Given the description of an element on the screen output the (x, y) to click on. 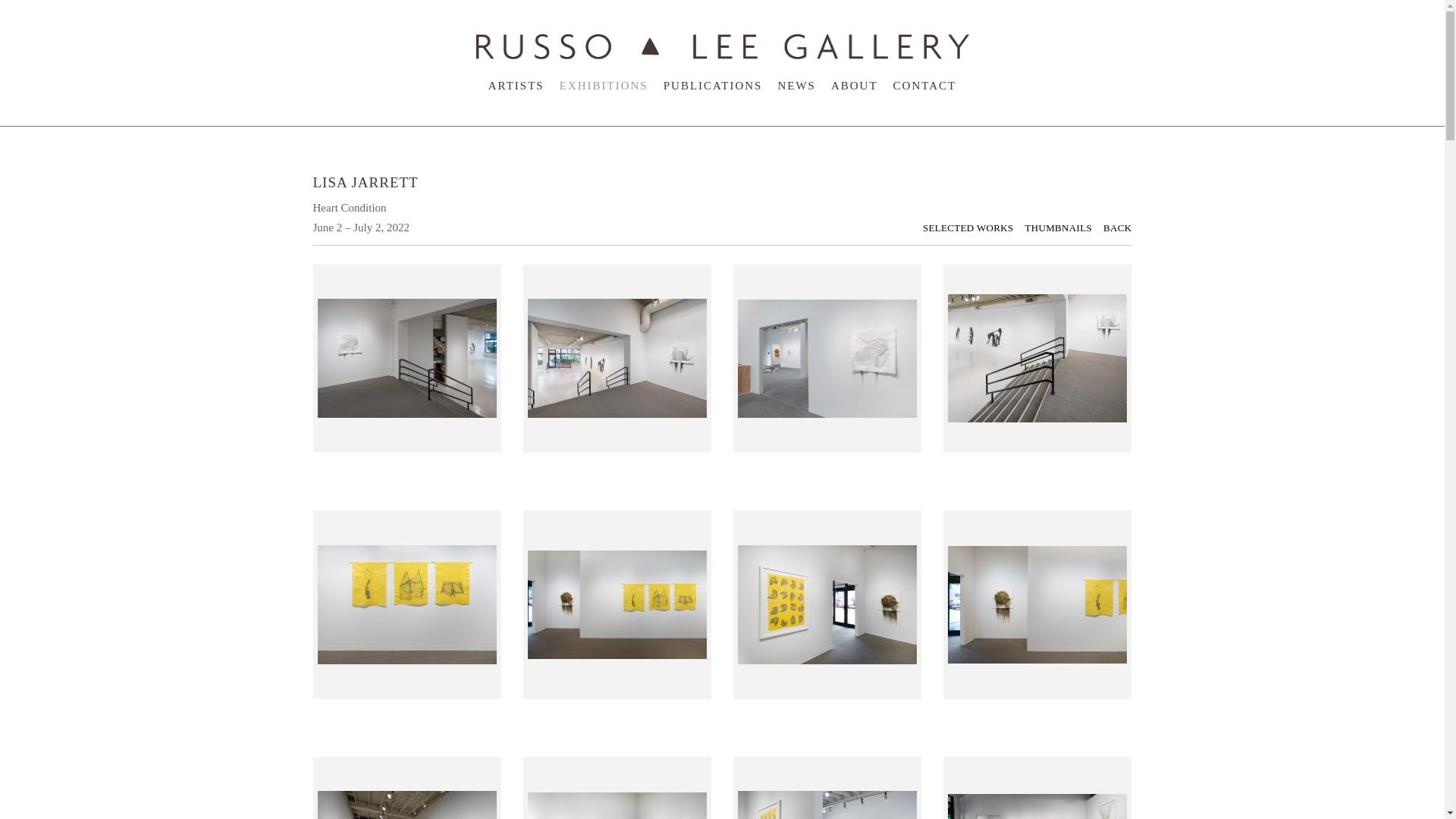
EXHIBITIONS (603, 85)
ABOUT (854, 85)
ARTISTS (515, 85)
SELECTED WORKS (974, 228)
BACK (1117, 228)
THUMBNAILS (1064, 228)
CONTACT (924, 85)
NEWS (796, 85)
PUBLICATIONS (712, 85)
